Given the description of an element on the screen output the (x, y) to click on. 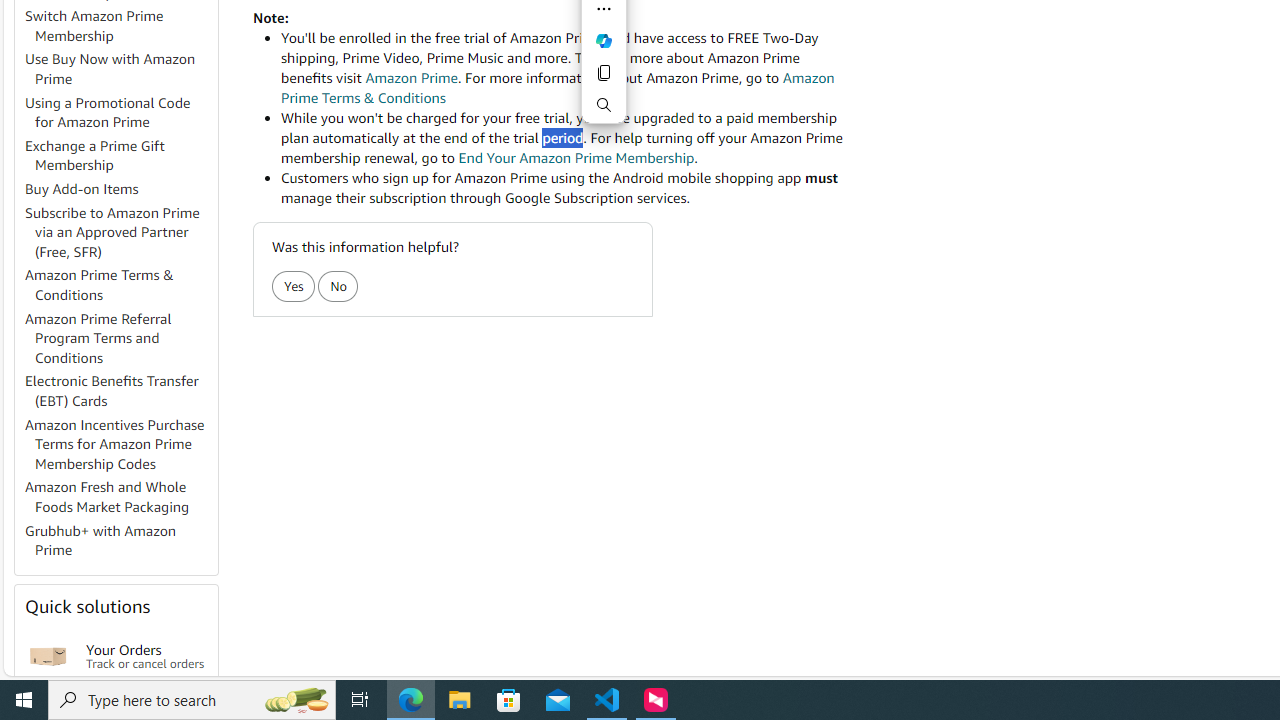
Use Buy Now with Amazon Prime (110, 69)
Your Orders (48, 655)
Exchange a Prime Gift Membership (120, 156)
Electronic Benefits Transfer (EBT) Cards (111, 390)
Amazon Prime Terms & Conditions (120, 285)
Amazon Prime Referral Program Terms and Conditions (120, 338)
Your Orders Track or cancel orders (145, 656)
Copy (603, 72)
Buy Add-on Items (120, 190)
Switch Amazon Prime Membership (120, 26)
Your Orders (48, 655)
